Given the description of an element on the screen output the (x, y) to click on. 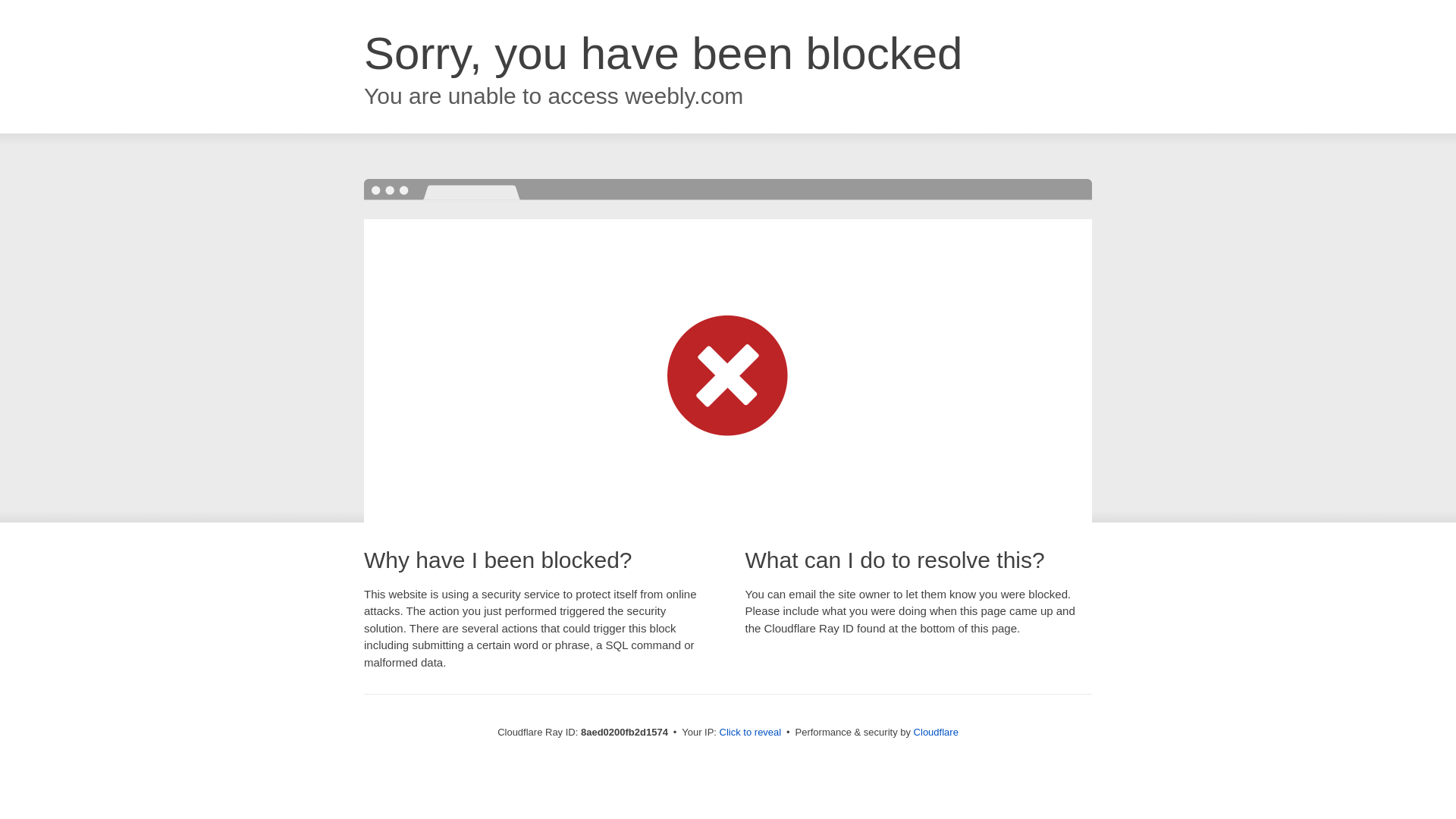
Click to reveal (750, 732)
Cloudflare (936, 731)
